Given the description of an element on the screen output the (x, y) to click on. 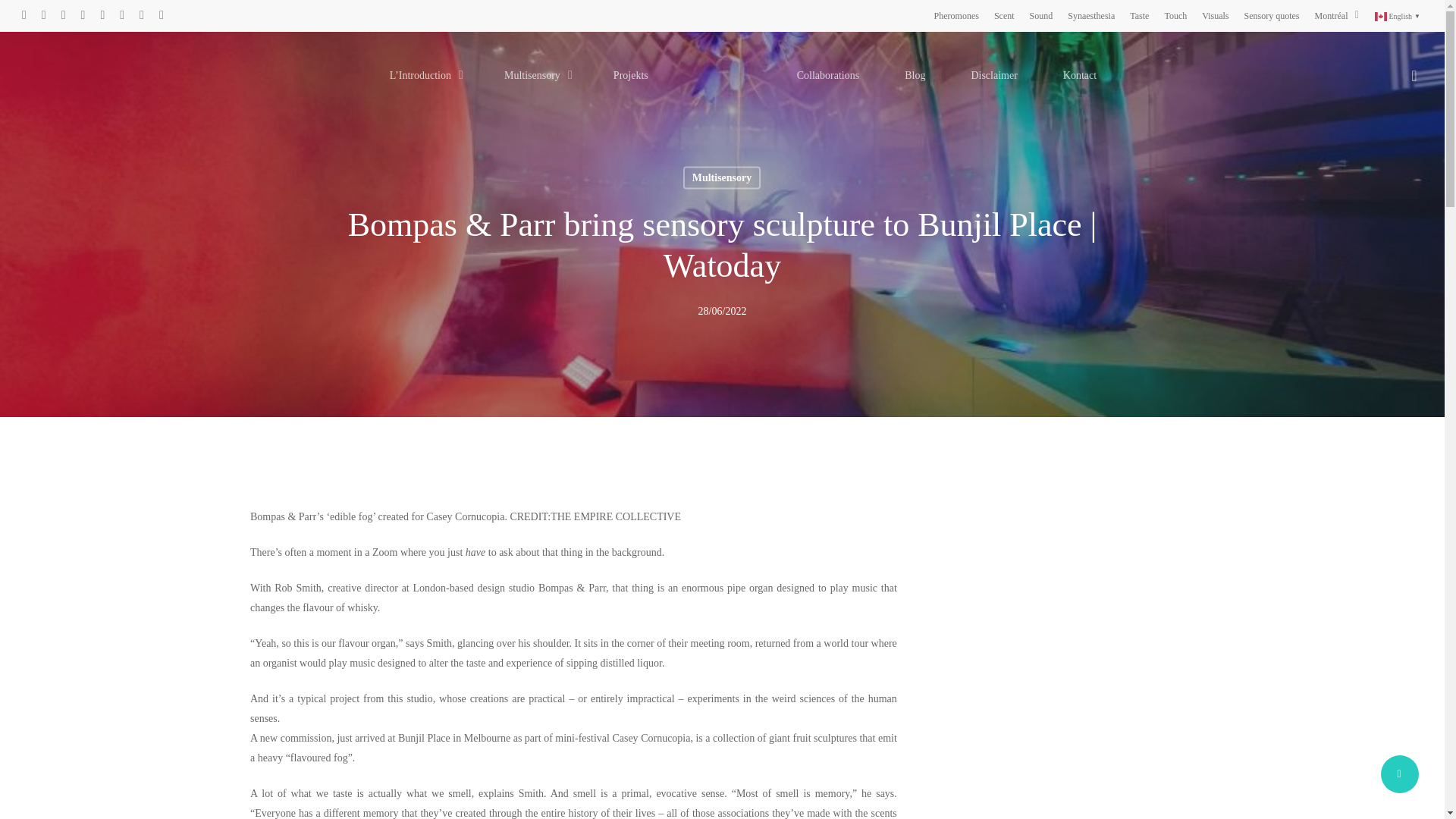
Sound (1040, 15)
Synaesthesia (1091, 15)
Pheromones (956, 15)
Taste (1138, 15)
Touch (1174, 15)
Scent (1004, 15)
Visuals (1215, 15)
Sensory quotes (1272, 15)
